Given the description of an element on the screen output the (x, y) to click on. 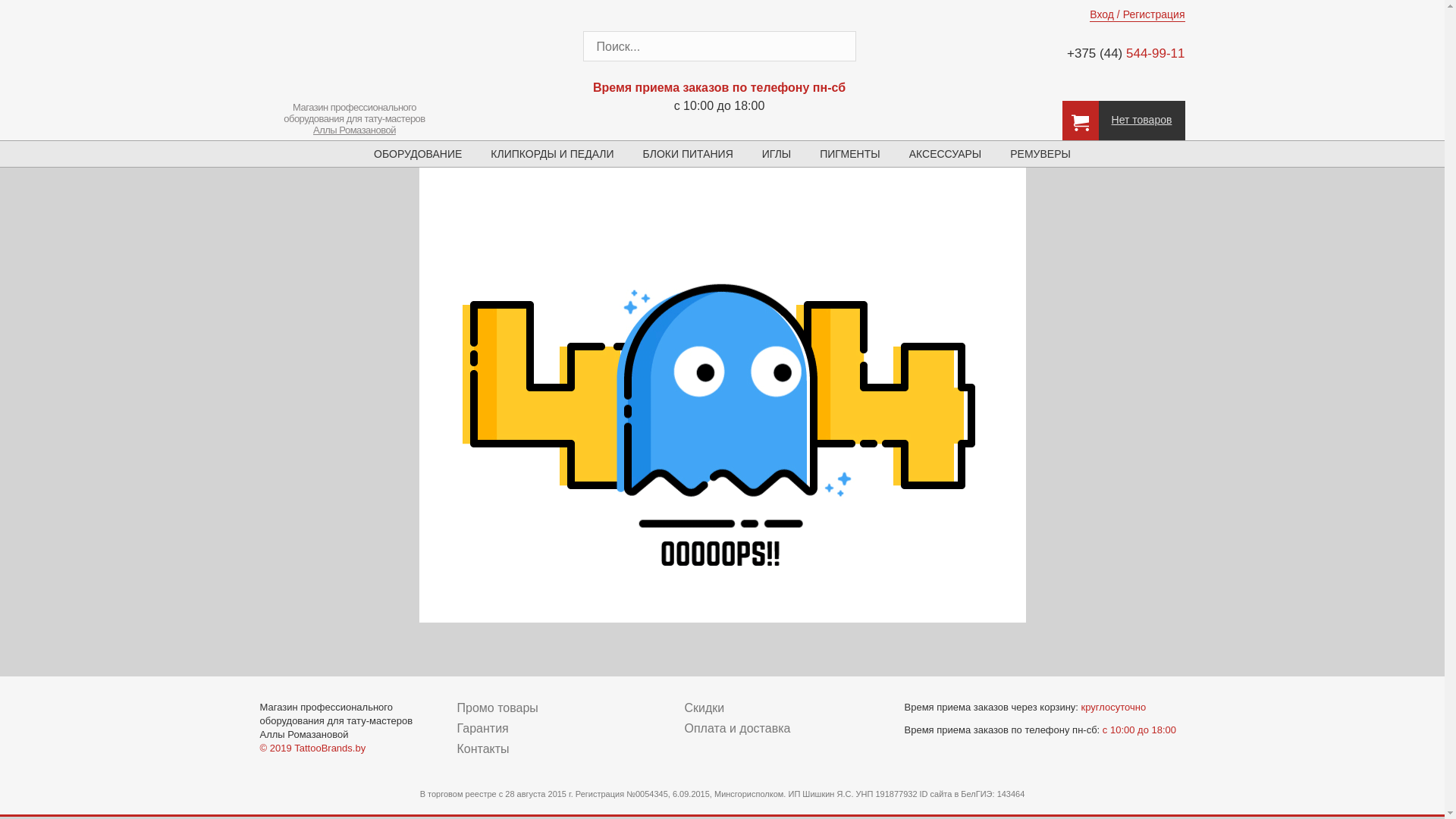
+375 (44) 544-99-11 Element type: text (1116, 53)
